Given the description of an element on the screen output the (x, y) to click on. 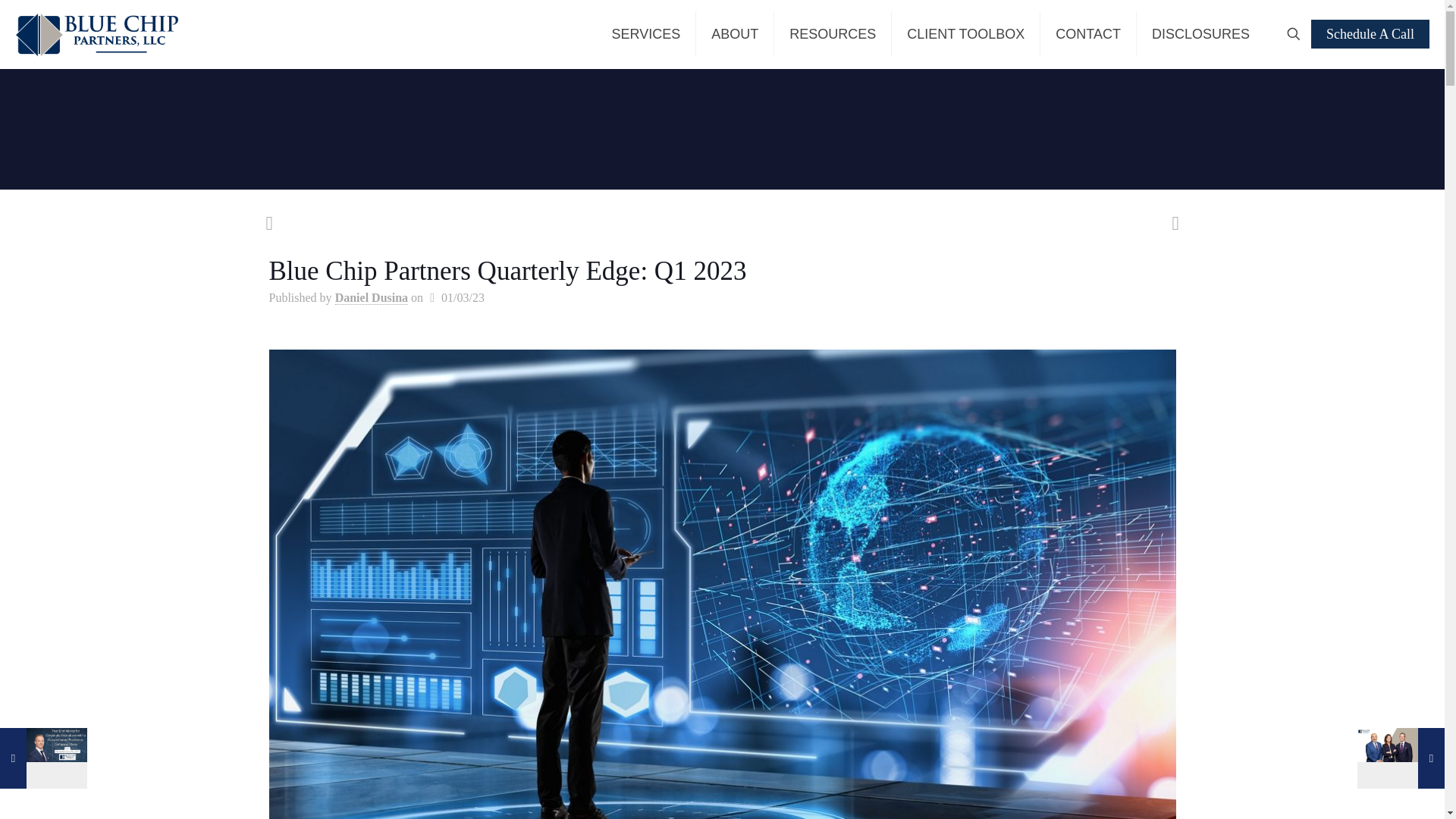
Daniel Dusina (370, 297)
Schedule A Call (1370, 33)
SERVICES (645, 33)
RESOURCES (832, 33)
ABOUT (734, 33)
Blue Chip Partners (95, 33)
CONTACT (1089, 33)
DISCLOSURES (1201, 33)
CLIENT TOOLBOX (966, 33)
